Given the description of an element on the screen output the (x, y) to click on. 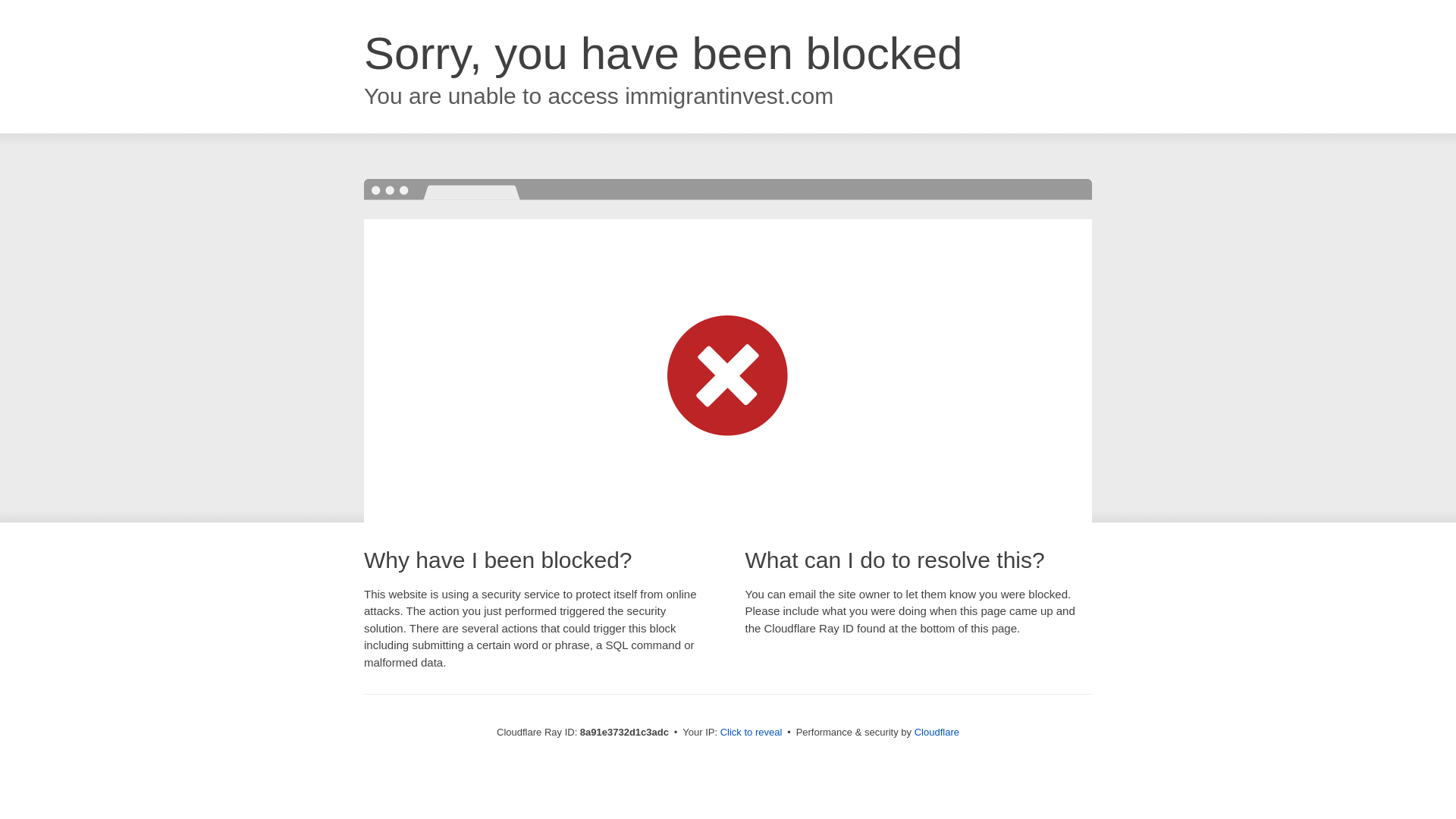
Cloudflare (936, 731)
Click to reveal (751, 732)
